Given the description of an element on the screen output the (x, y) to click on. 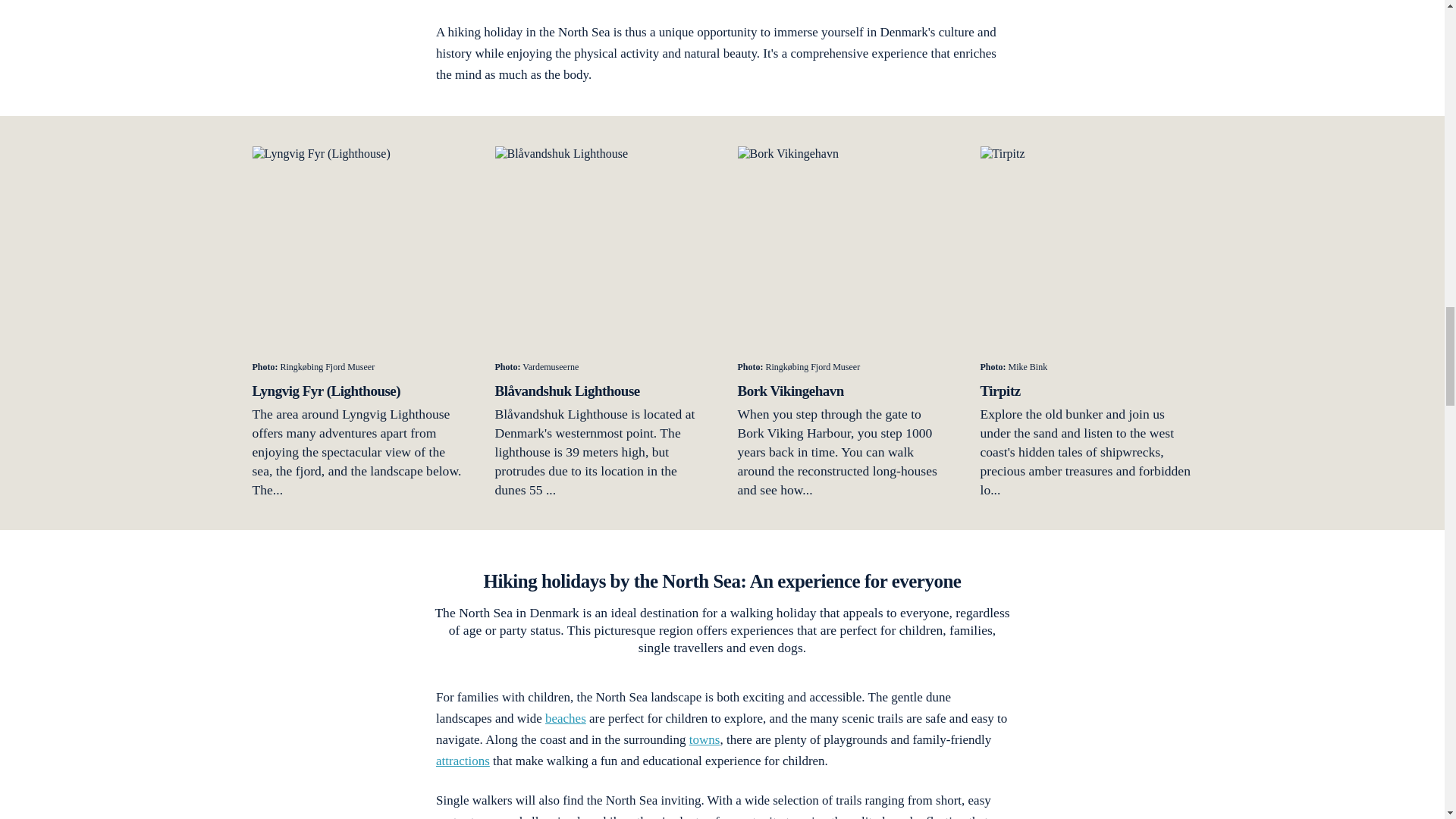
beaches (565, 718)
towns (704, 739)
attractions (462, 760)
